Given the description of an element on the screen output the (x, y) to click on. 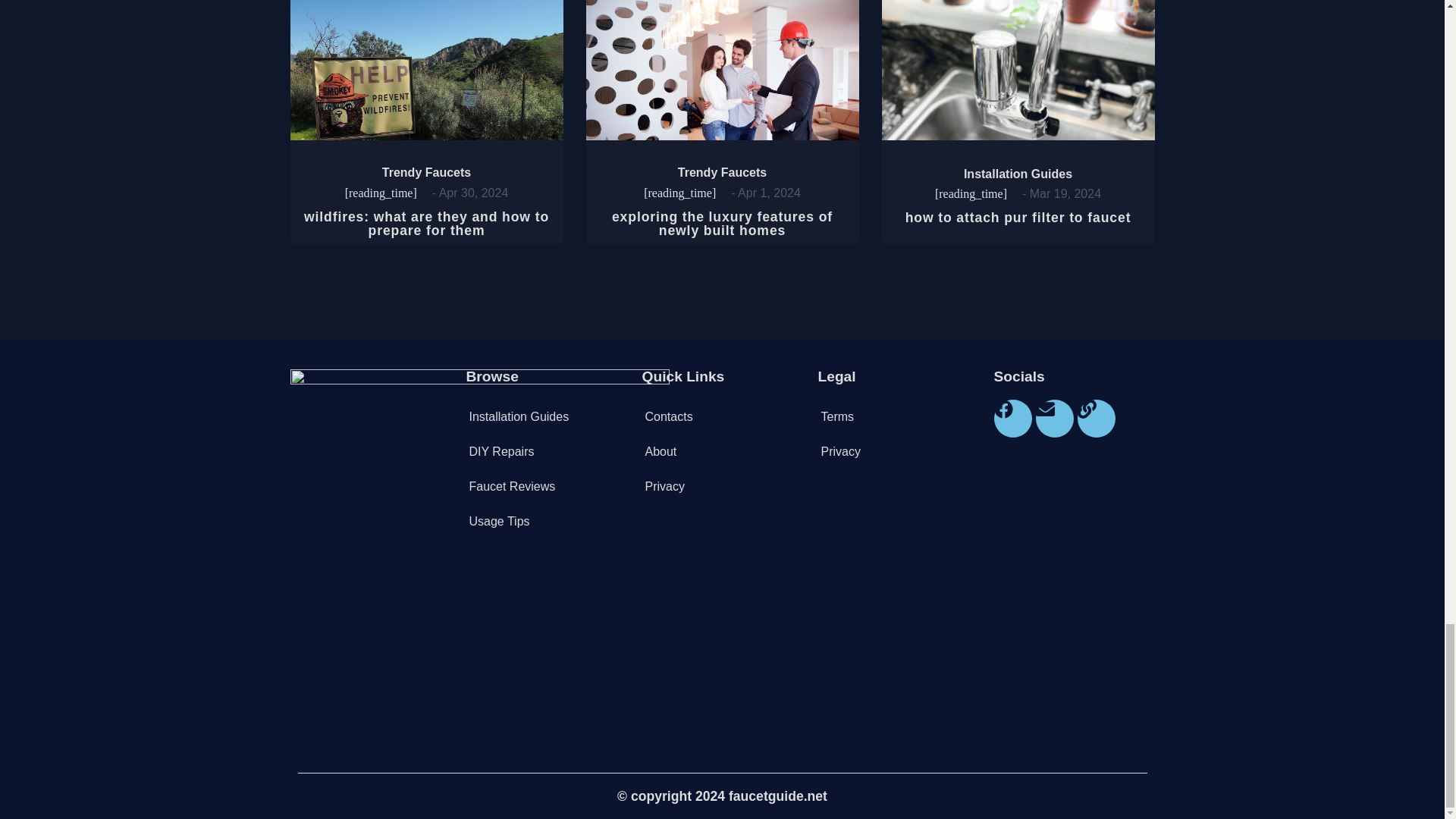
Privacy (722, 486)
Terms (897, 416)
DIY Repairs (545, 451)
Contacts (722, 416)
Installation Guides (1017, 173)
Trendy Faucets (425, 172)
Usage Tips (545, 521)
About (722, 451)
exploring the luxury features of newly built homes (721, 223)
Installation Guides (545, 416)
Faucet Reviews (545, 486)
Privacy (897, 451)
Trendy Faucets (722, 172)
how to attach pur filter to faucet (1018, 217)
wildfires: what are they and how to prepare for them (426, 223)
